Given the description of an element on the screen output the (x, y) to click on. 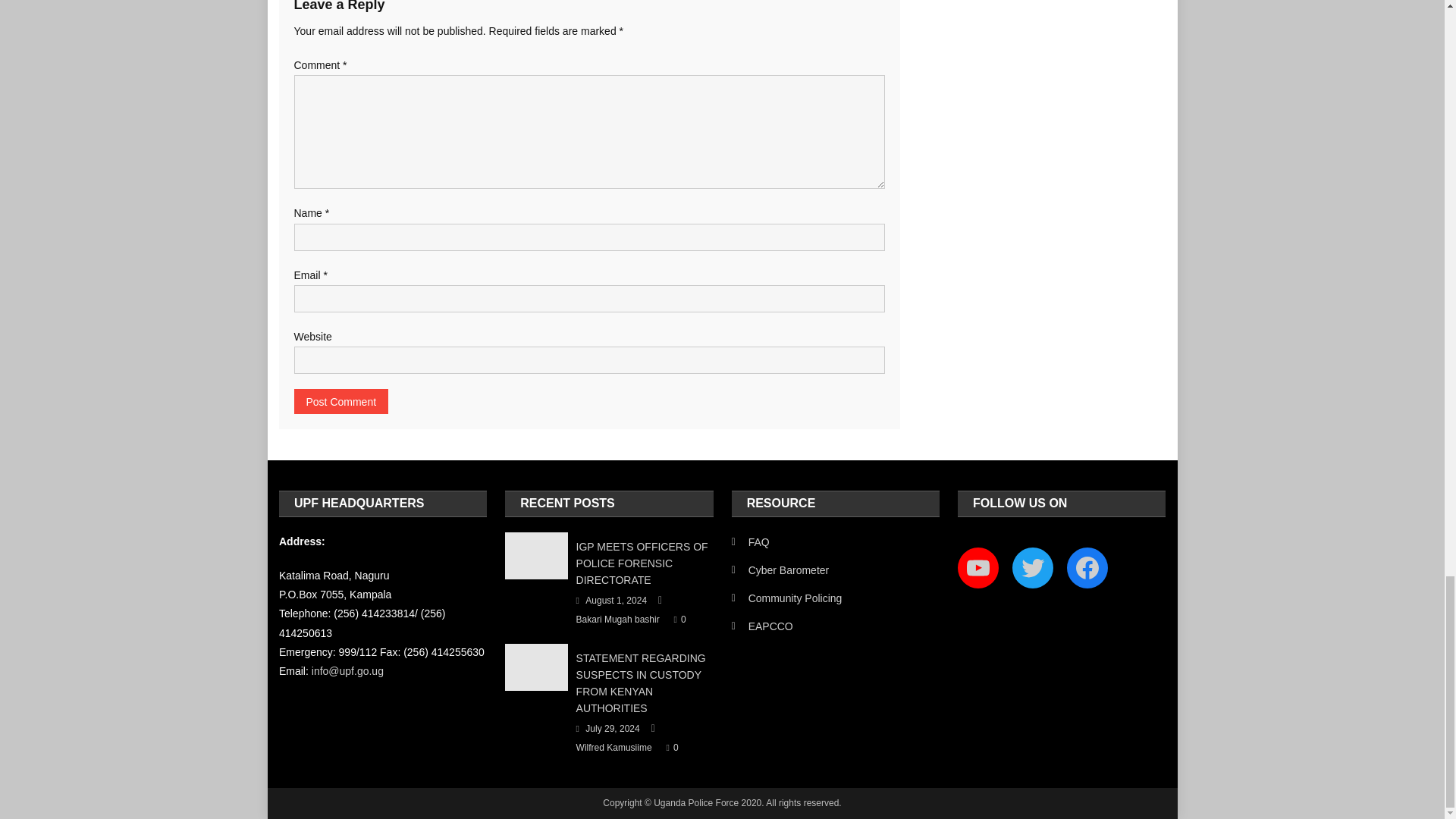
Post Comment (341, 401)
